Given the description of an element on the screen output the (x, y) to click on. 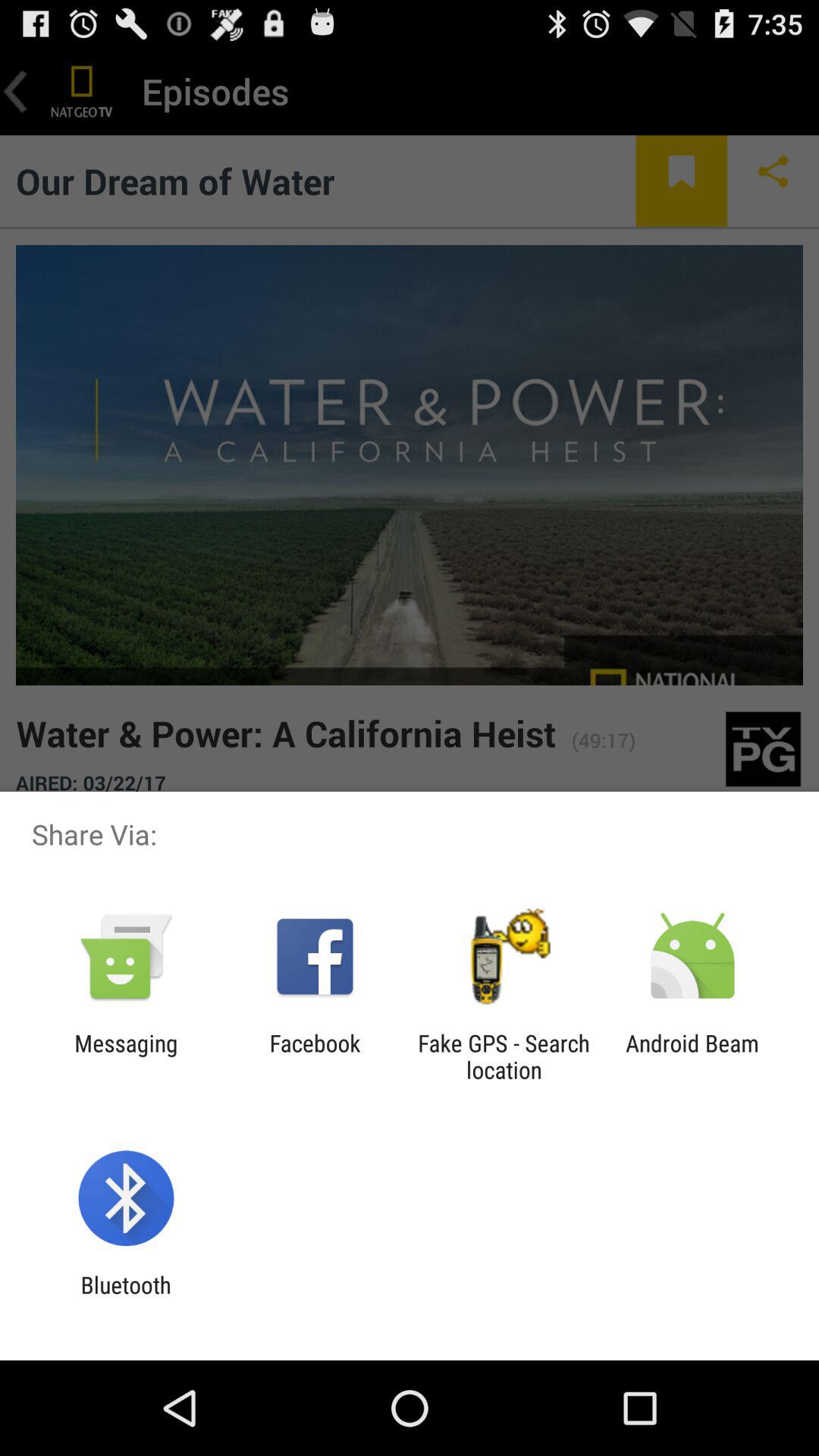
turn on app next to fake gps search item (314, 1056)
